Given the description of an element on the screen output the (x, y) to click on. 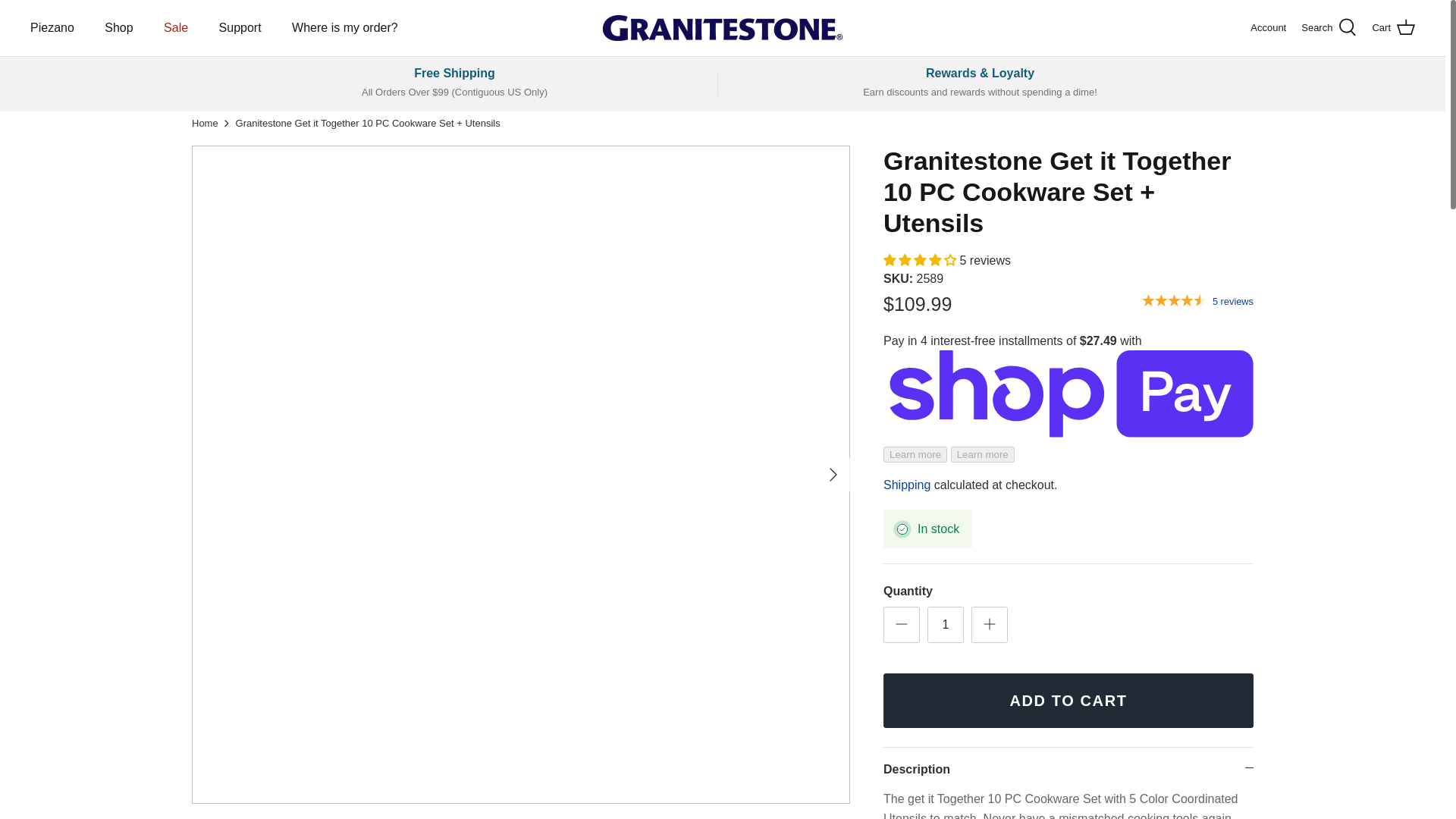
Where is my order? (345, 28)
Granitestone.com (722, 27)
Plus (988, 624)
Minus (901, 624)
Support (240, 28)
Cart (1393, 27)
Search (1328, 27)
Piezano (51, 28)
1 (945, 624)
RIGHT (833, 474)
Shop (118, 28)
Account (1267, 28)
Sale (175, 28)
